Given the description of an element on the screen output the (x, y) to click on. 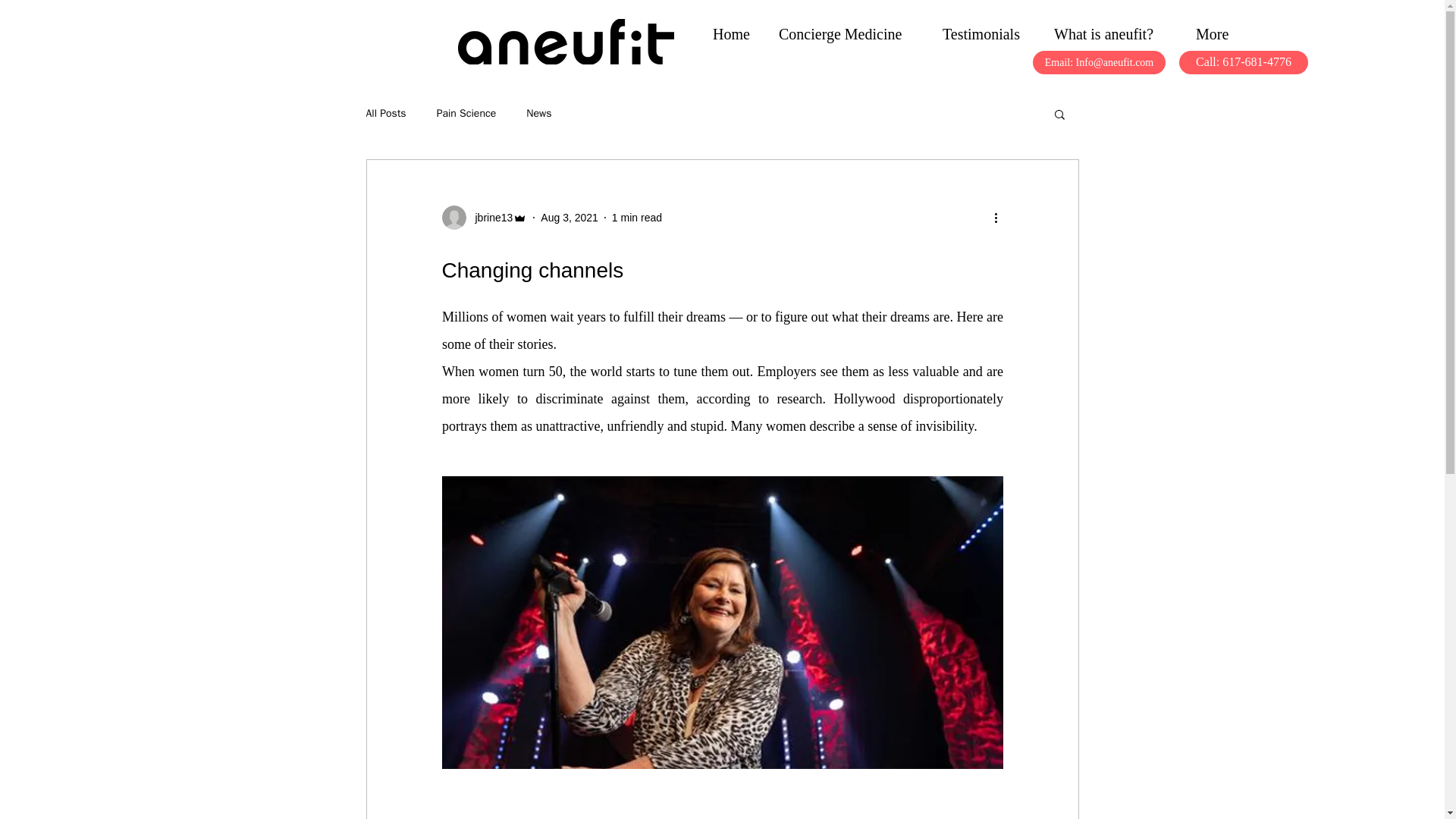
News (538, 113)
All Posts (385, 113)
Pain Science (466, 113)
Call: 617-681-4776 (1243, 62)
Aug 3, 2021 (569, 216)
portrays (463, 426)
1 min read (636, 216)
less valuable (923, 371)
jbrine13 (484, 217)
Concierge Medicine (849, 32)
discriminate (568, 398)
jbrine13 (488, 217)
Home (734, 32)
Testimonials (986, 32)
What is aneufit? (1113, 32)
